Given the description of an element on the screen output the (x, y) to click on. 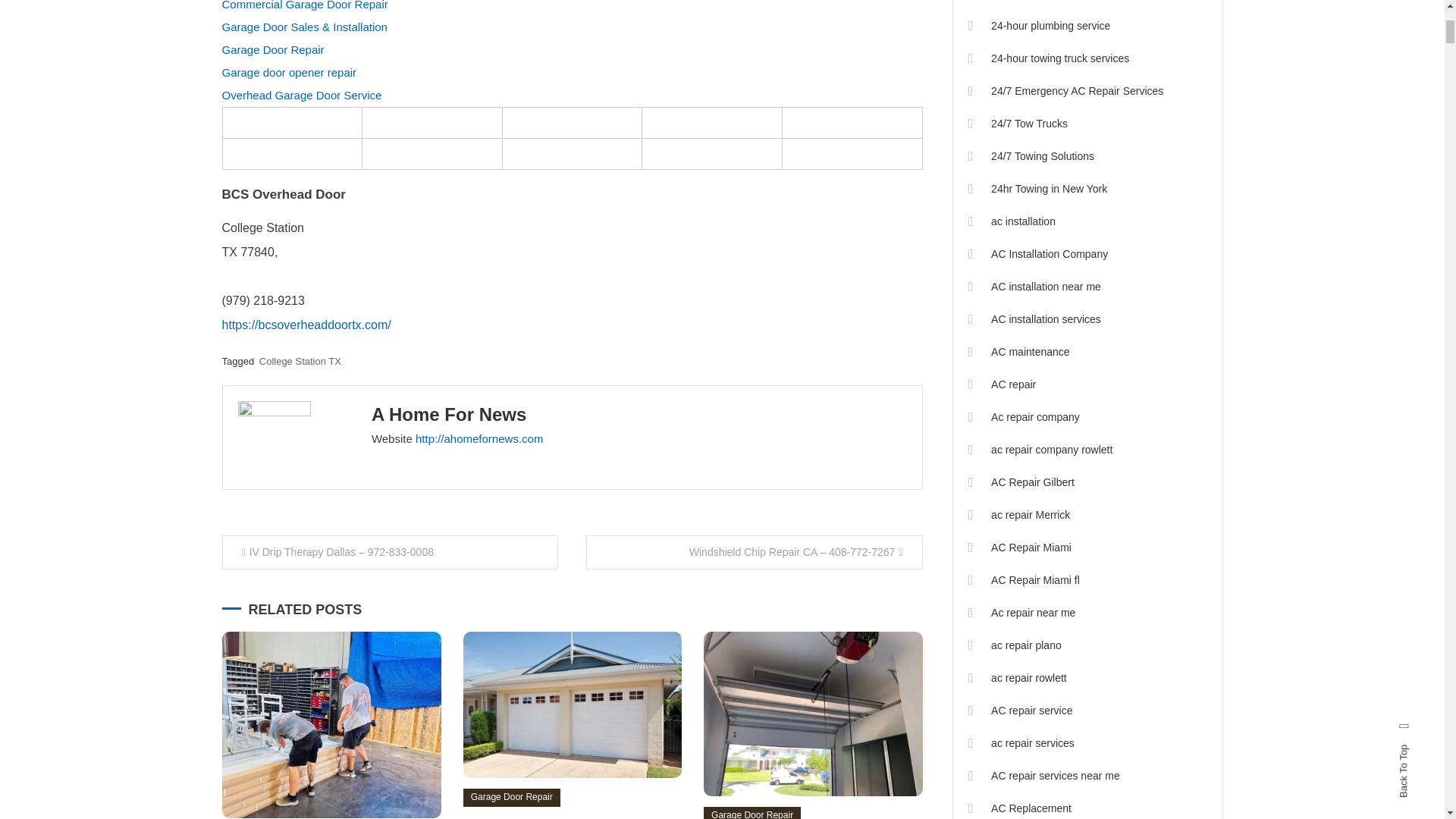
Posts by A Home For News (448, 414)
